Given the description of an element on the screen output the (x, y) to click on. 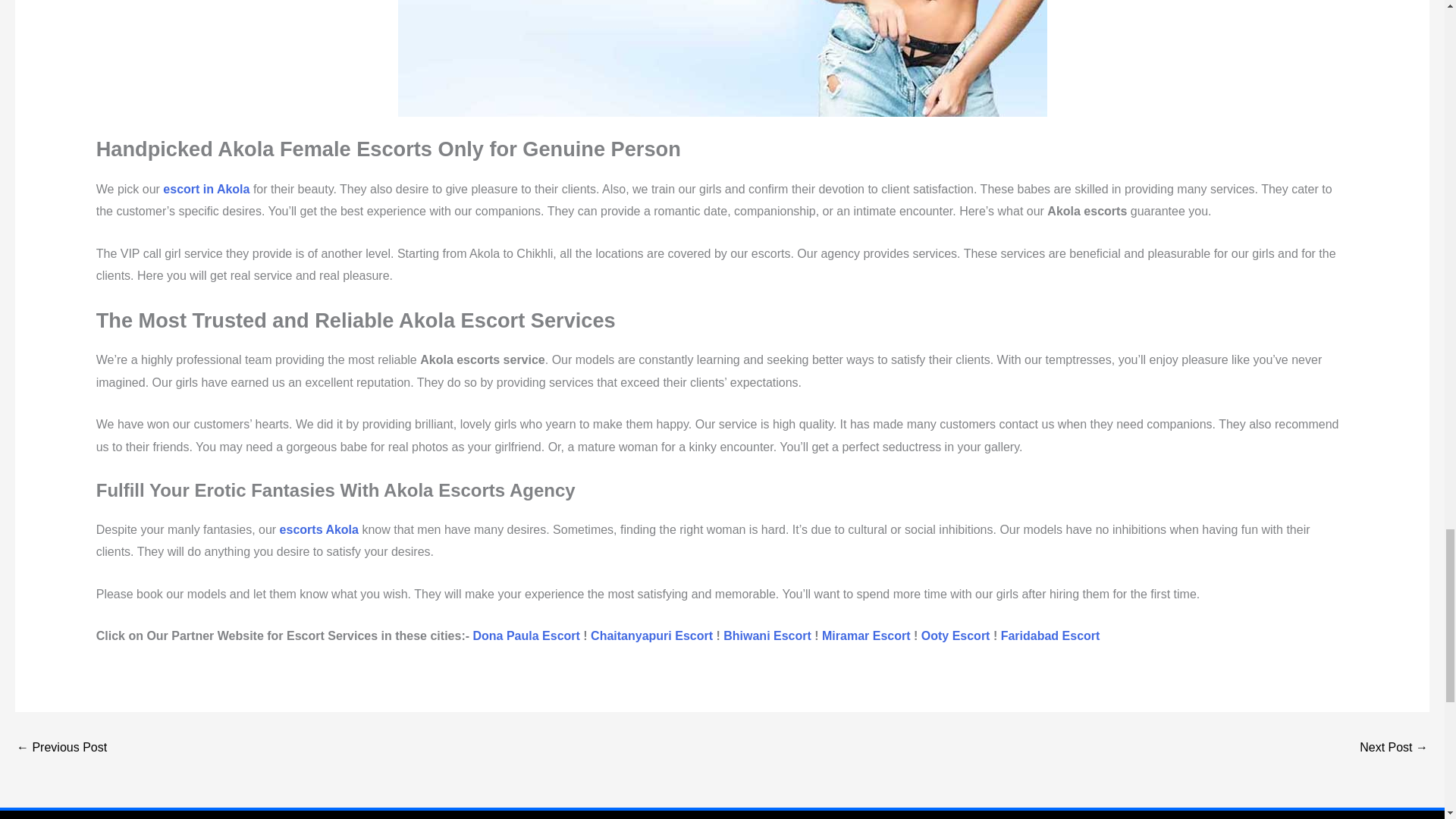
escort in Akola (205, 188)
Faridabad Escort (1050, 635)
escorts Akola (318, 529)
Dona Paula Escort (525, 635)
Bhiwani Escort (766, 635)
Chaitanyapuri Escort (652, 635)
Ooty Escort (955, 635)
Miramar Escort (866, 635)
